Given the description of an element on the screen output the (x, y) to click on. 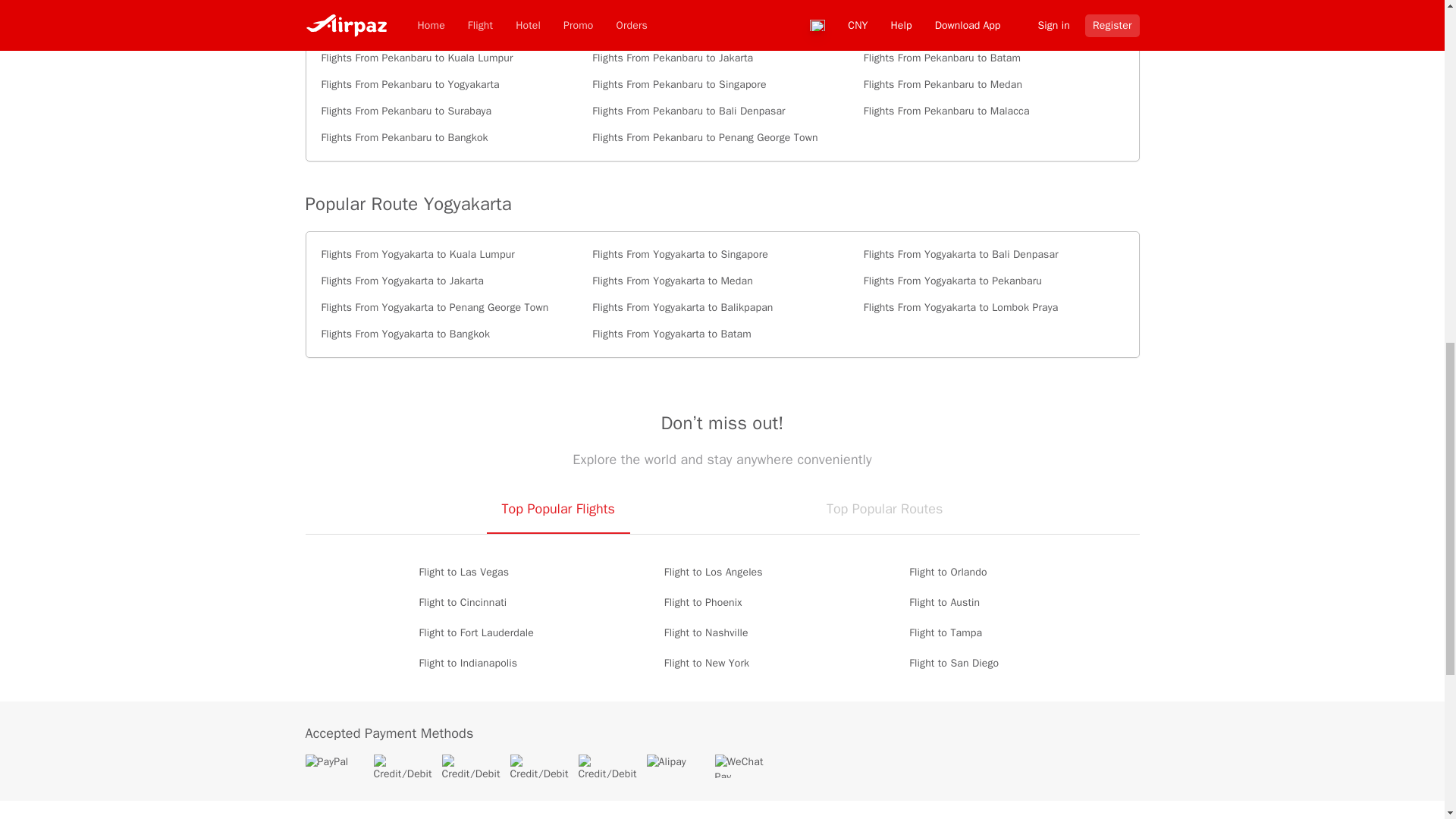
Flights From Pekanbaru to Kuala Lumpur (450, 58)
Flights From Pekanbaru to Bali Denpasar (721, 111)
Flights From Pekanbaru to Surabaya (450, 111)
Flights From Pekanbaru to Penang George Town (721, 137)
Flights From Yogyakarta to Kuala Lumpur (450, 254)
Flights From Pekanbaru to Jakarta (721, 58)
Flights From Pekanbaru to Yogyakarta (450, 84)
Flights From Pekanbaru to Batam (993, 58)
Flights From Pekanbaru to Bangkok (450, 137)
Flights From Pekanbaru to Malacca (993, 111)
